Given the description of an element on the screen output the (x, y) to click on. 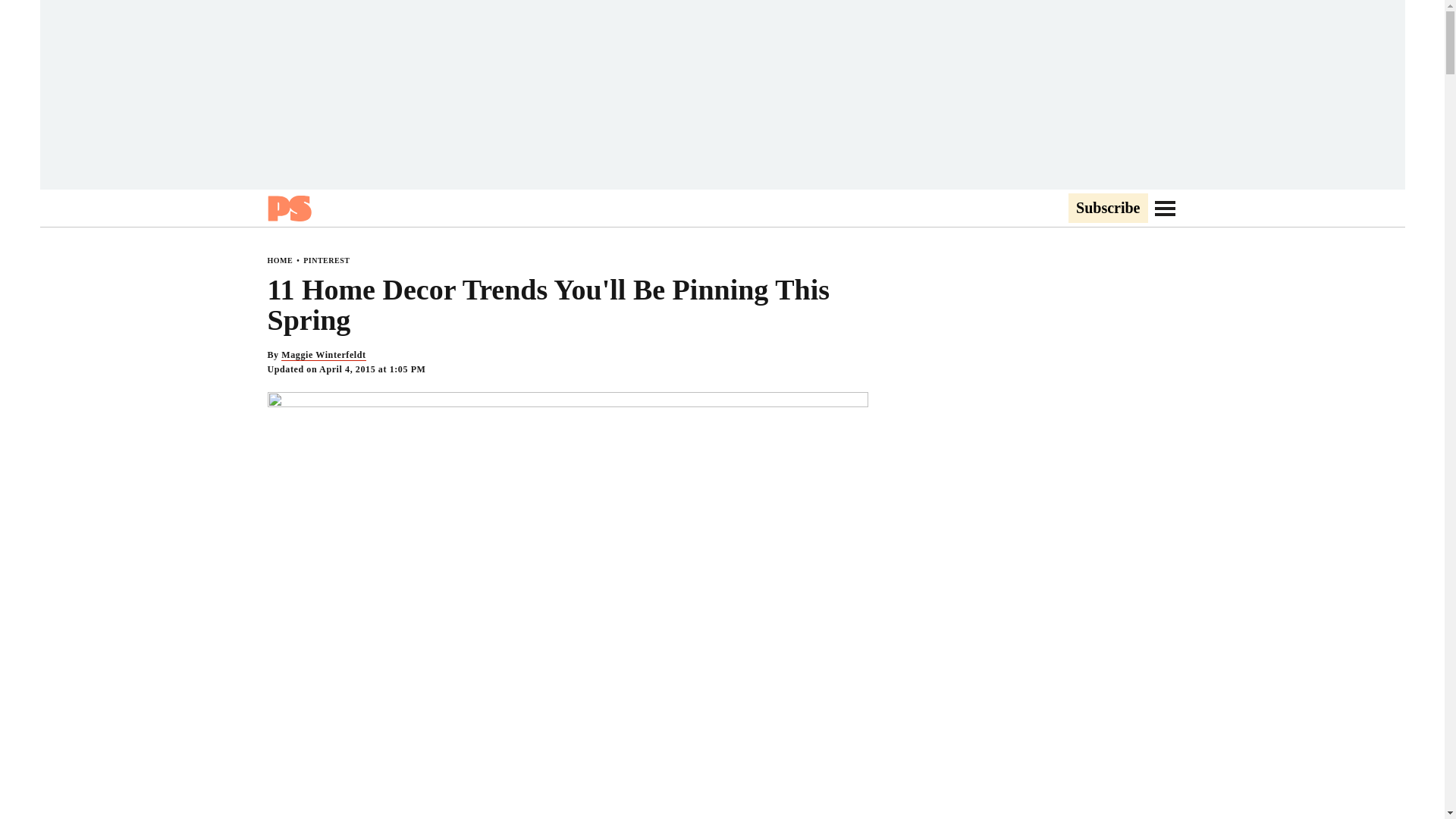
Popsugar (288, 208)
Maggie Winterfeldt (323, 355)
Subscribe (1107, 208)
Go to Navigation (1164, 207)
PINTEREST (325, 260)
HOME (279, 260)
Go to Navigation (1164, 207)
